Given the description of an element on the screen output the (x, y) to click on. 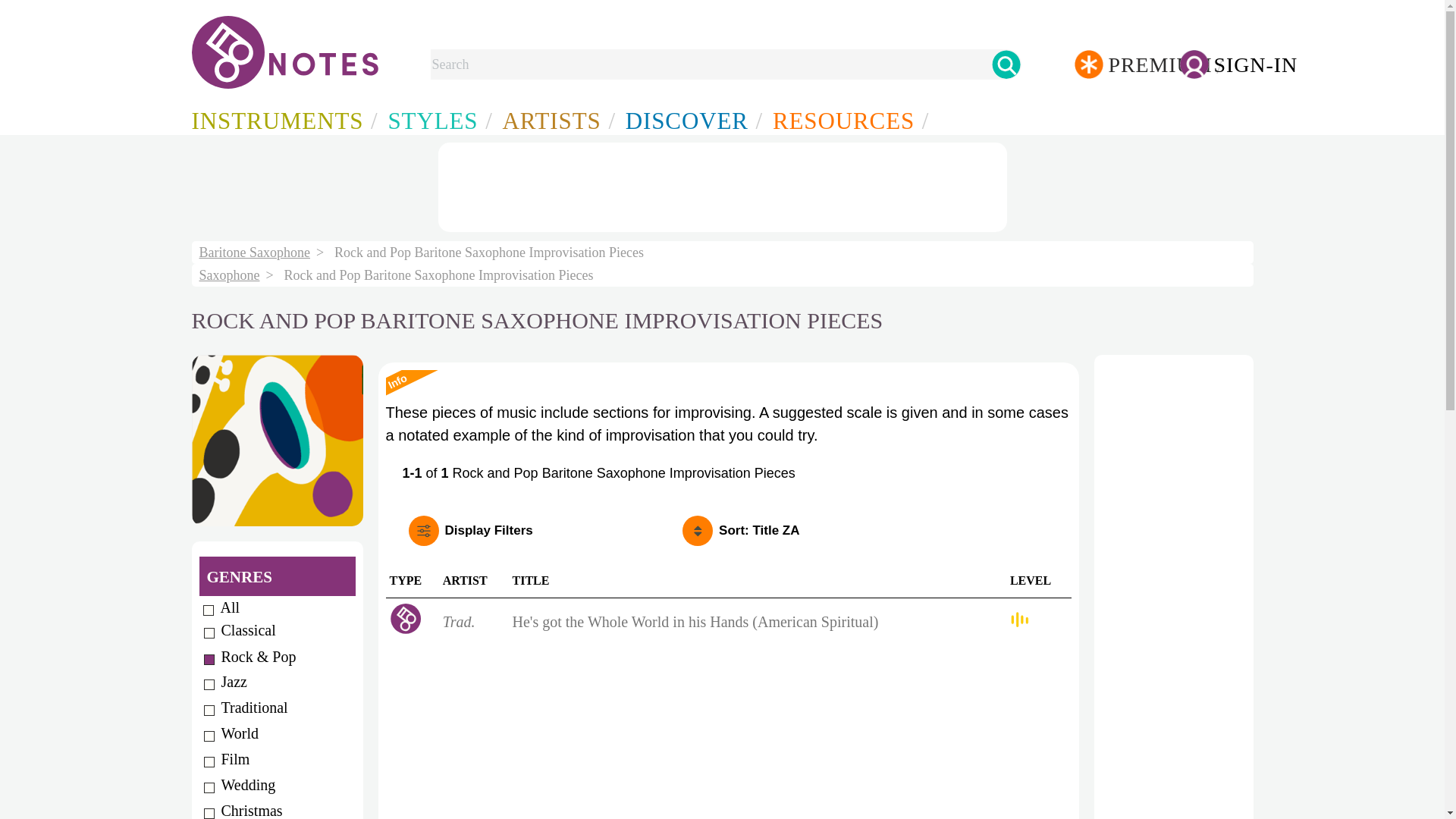
instruments (740, 526)
STYLES (436, 119)
styles (436, 119)
DISCOVER (691, 119)
INSTRUMENTS (281, 119)
Easy Level (1019, 618)
instruments (281, 119)
artists (556, 119)
ARTISTS (556, 119)
PREMIUM (1126, 68)
